Given the description of an element on the screen output the (x, y) to click on. 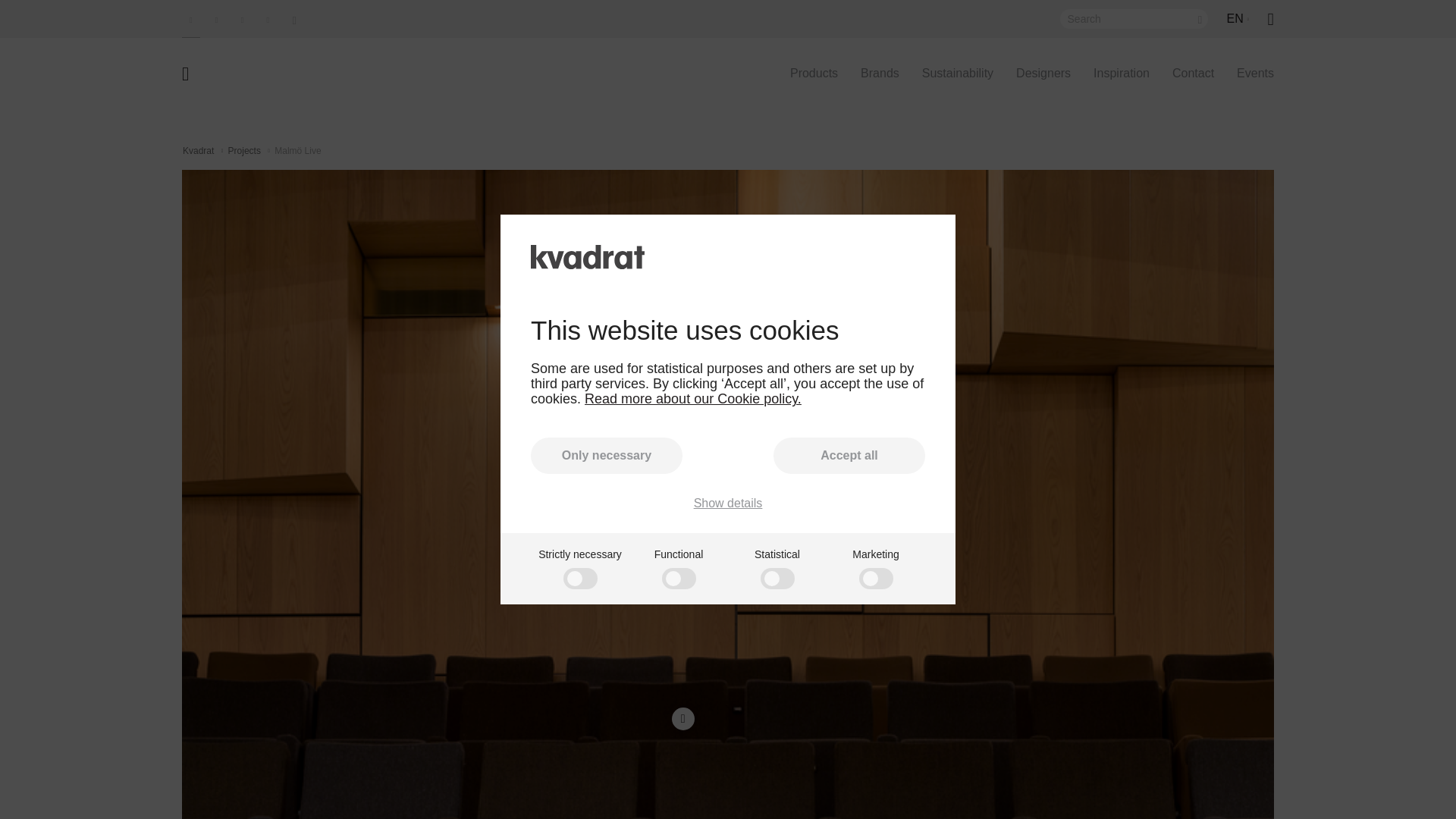
Only necessary (606, 455)
Show details (728, 503)
Accept all (848, 455)
Read more about our Cookie policy. (693, 398)
